Given the description of an element on the screen output the (x, y) to click on. 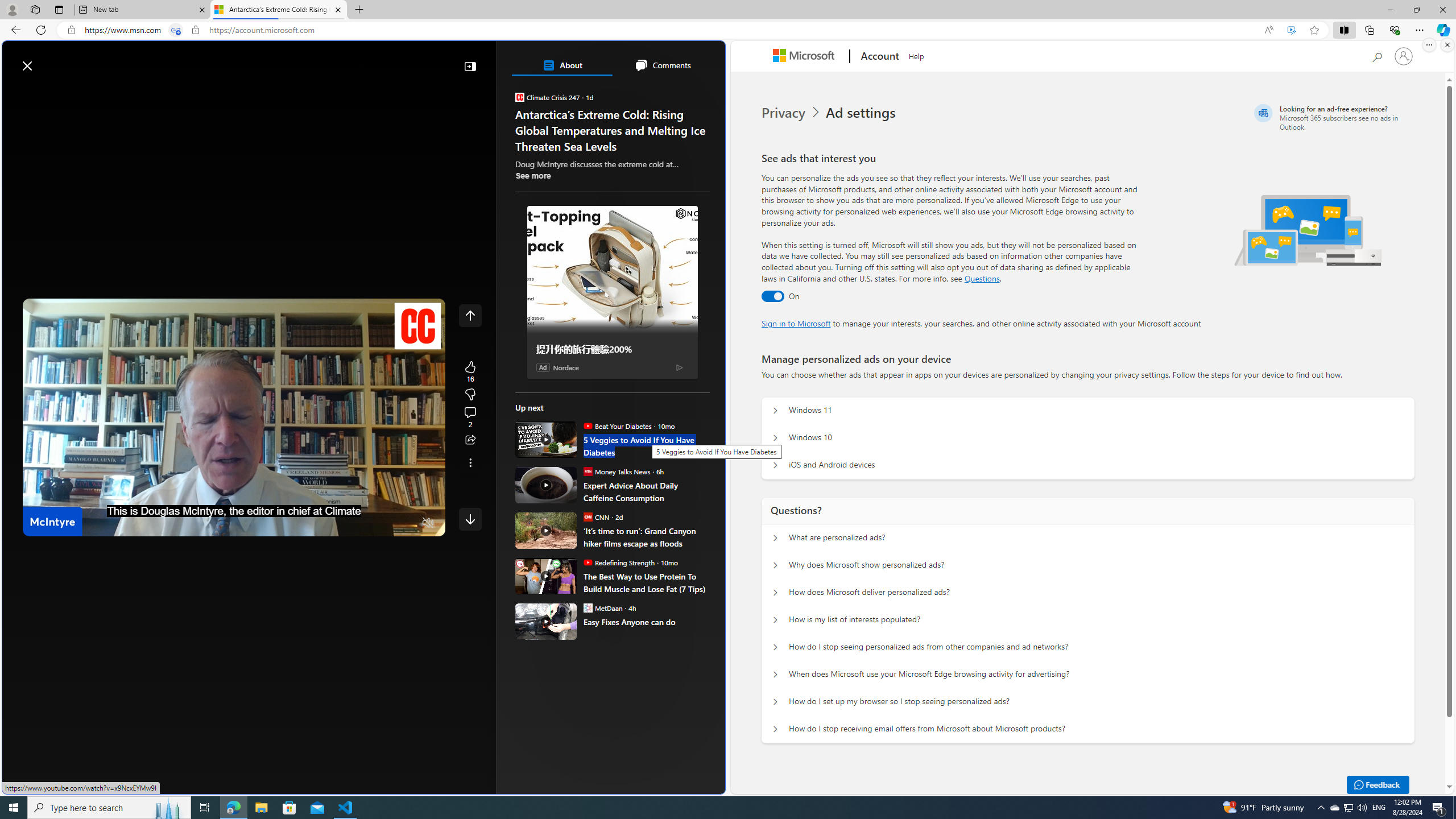
Tabs in split screen (175, 29)
The Associated Press (554, 366)
Ad settings toggle (772, 296)
Redefining Strength (587, 561)
Looking for an ad-free experience? (1331, 117)
Ad settings (862, 112)
Quality Settings (360, 523)
CNN CNN (596, 516)
Enter your search term (366, 59)
